Given the description of an element on the screen output the (x, y) to click on. 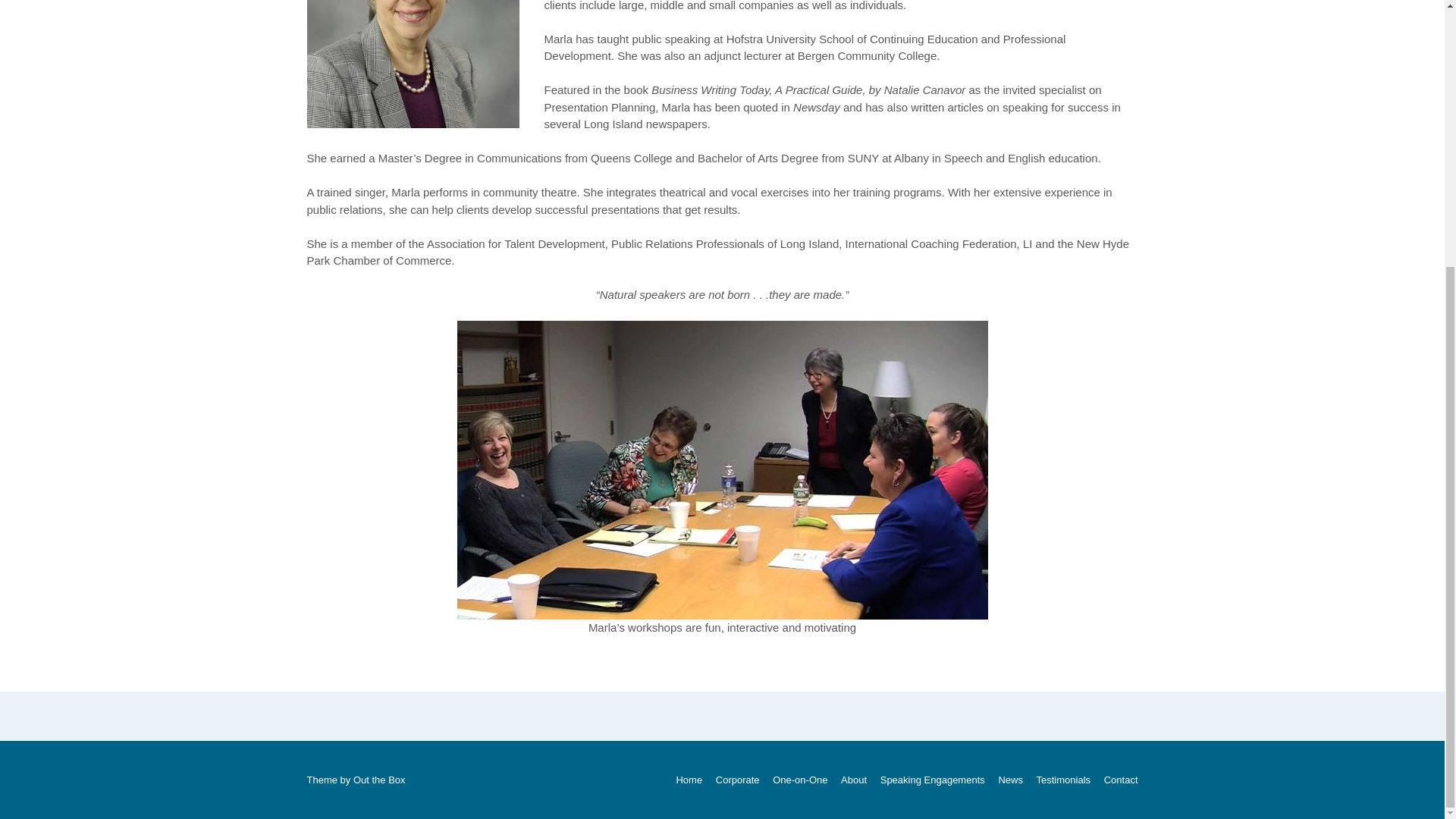
Home (688, 779)
Speaking Engagements (932, 779)
Testimonials (1063, 779)
News (1009, 779)
Corporate (737, 779)
One-on-One (799, 779)
About (853, 779)
Out the Box (379, 779)
Contact (1118, 779)
